Given the description of an element on the screen output the (x, y) to click on. 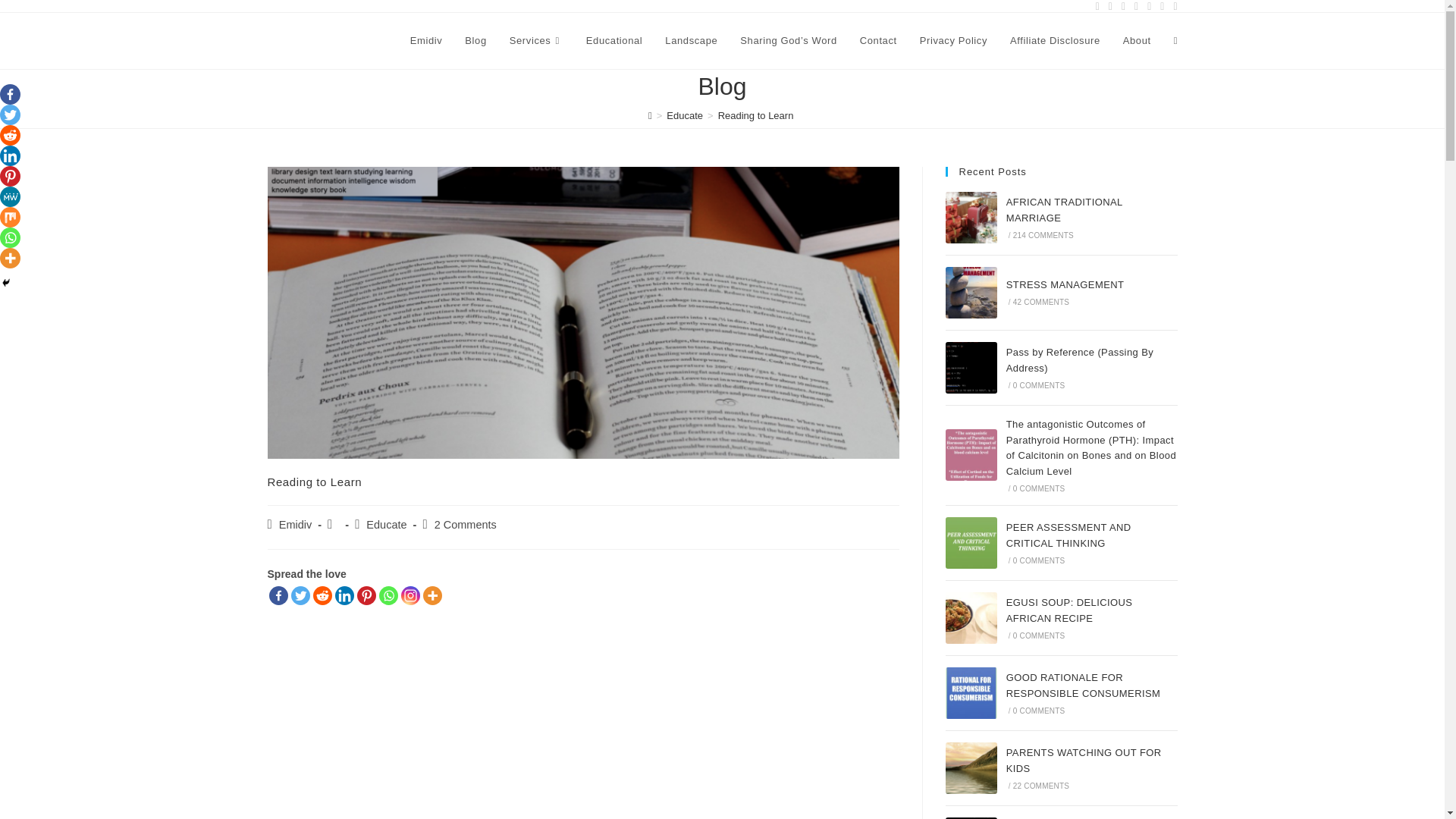
Pinterest (365, 595)
Twitter (10, 114)
Advertisement (388, 708)
Affiliate Disclosure (1055, 40)
Linkedin (10, 155)
Whatsapp (387, 595)
More (432, 595)
Instagram (409, 595)
Emidiv (426, 40)
Facebook (276, 595)
Twitter (300, 595)
Facebook (10, 94)
Educational (614, 40)
Educate (684, 115)
Reddit (322, 595)
